Given the description of an element on the screen output the (x, y) to click on. 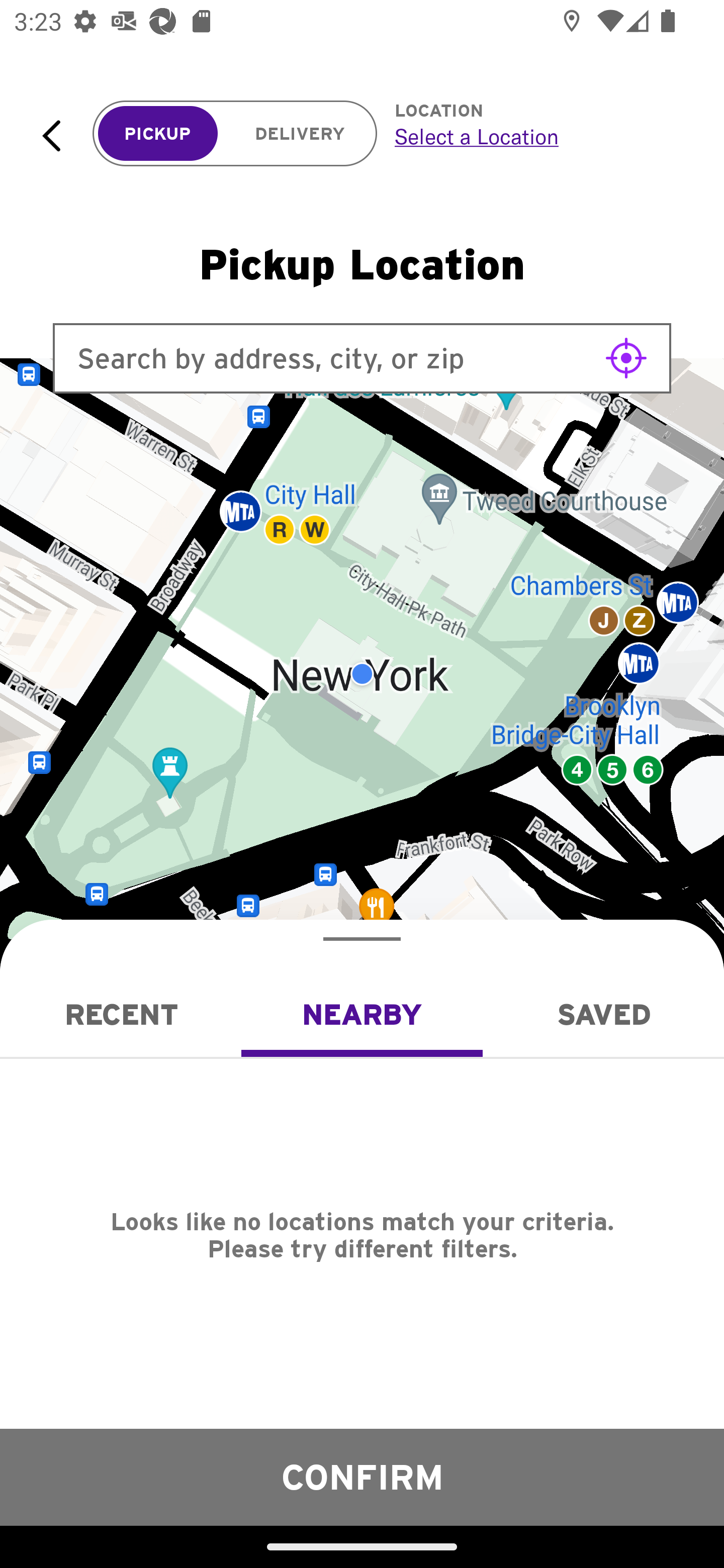
PICKUP (157, 133)
DELIVERY (299, 133)
Select a Location (536, 136)
Search by address, city, or zip (361, 358)
Google Map (362, 674)
Recent RECENT (120, 1014)
Saved SAVED (603, 1014)
CONFIRM (362, 1476)
